Given the description of an element on the screen output the (x, y) to click on. 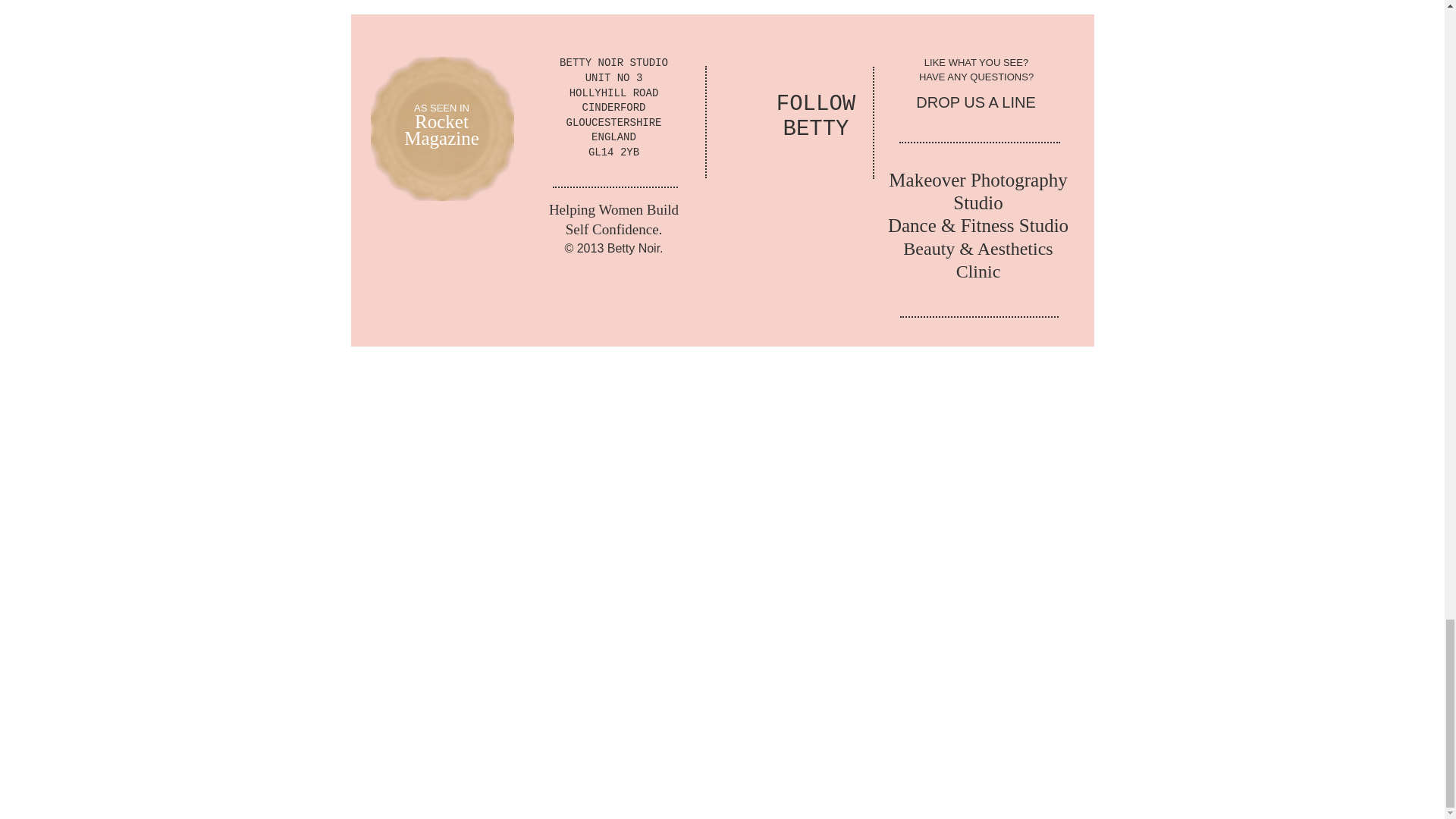
DROP US A LINE (975, 102)
